Given the description of an element on the screen output the (x, y) to click on. 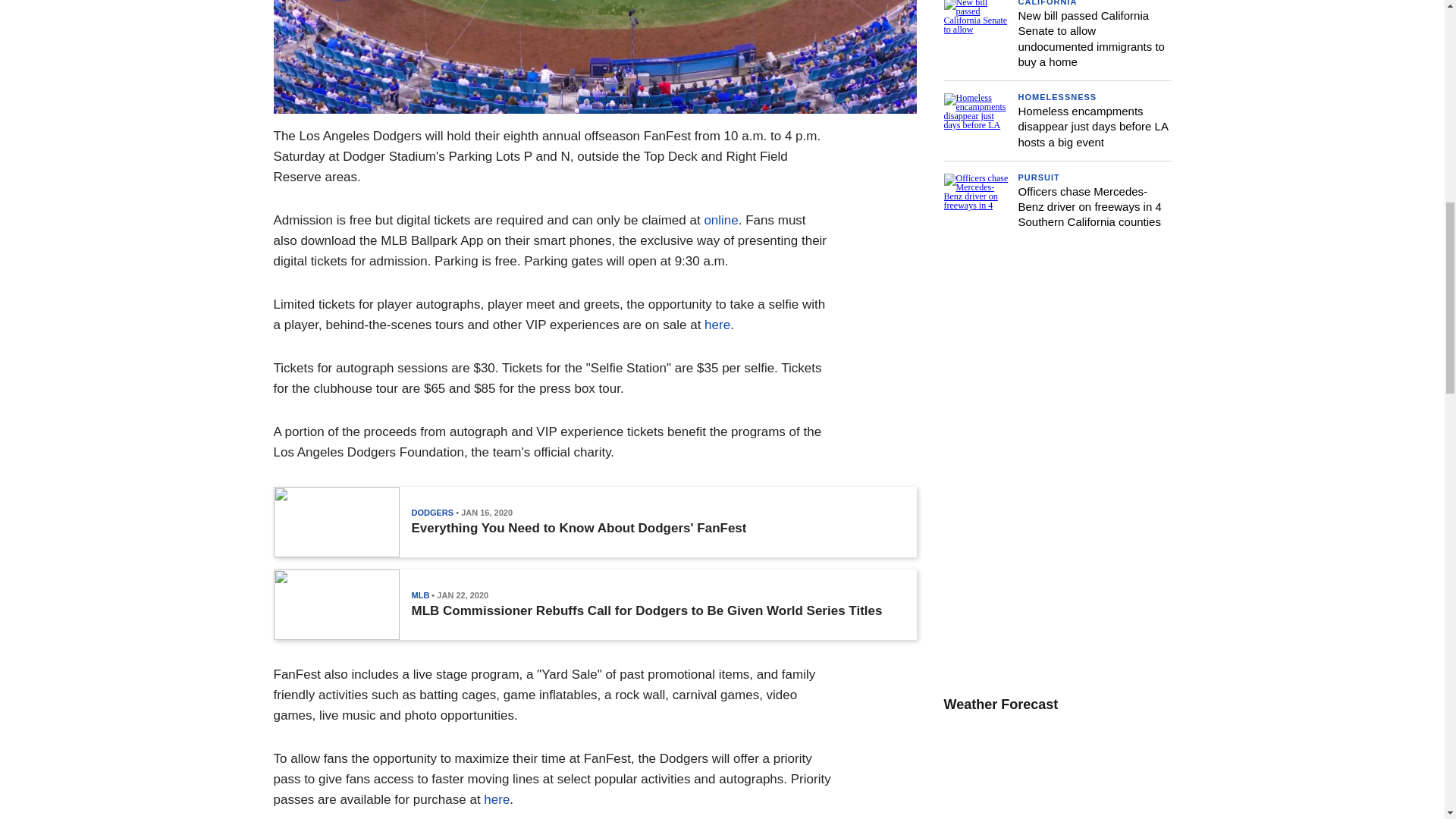
DODGERS (431, 511)
online (720, 219)
MLB (419, 594)
here (496, 799)
Everything You Need to Know About Dodgers' FanFest (577, 528)
here (717, 324)
